Given the description of an element on the screen output the (x, y) to click on. 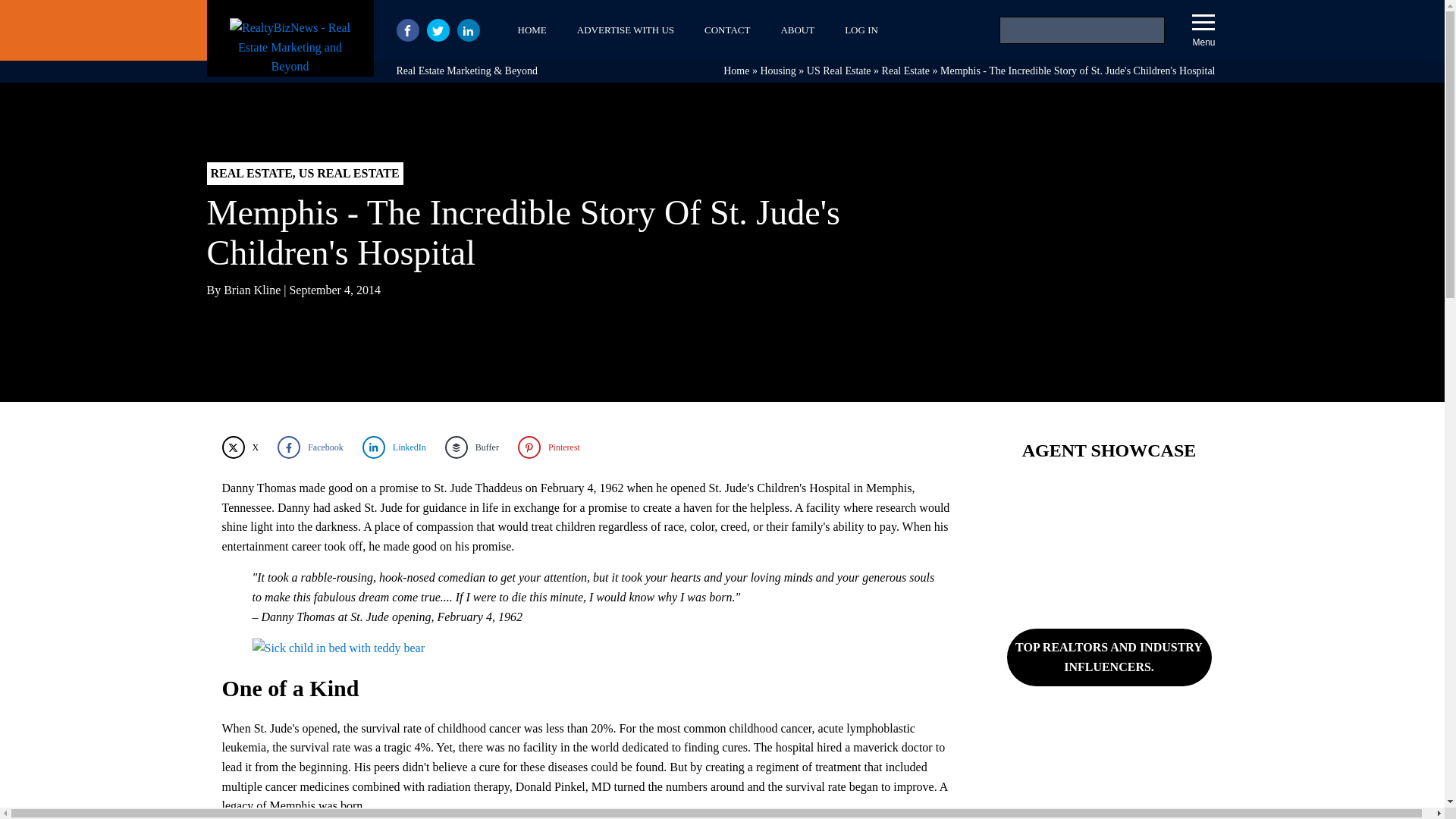
Search (31, 13)
ABOUT (797, 30)
ADVERTISE WITH US (625, 30)
Real Estate (906, 70)
CONTACT (726, 30)
Real Estate (906, 70)
HOME (531, 30)
Home (736, 70)
LOG IN (861, 30)
Home (736, 70)
Housing (777, 70)
US Real Estate (838, 70)
Housing (777, 70)
US Real Estate (838, 70)
